Given the description of an element on the screen output the (x, y) to click on. 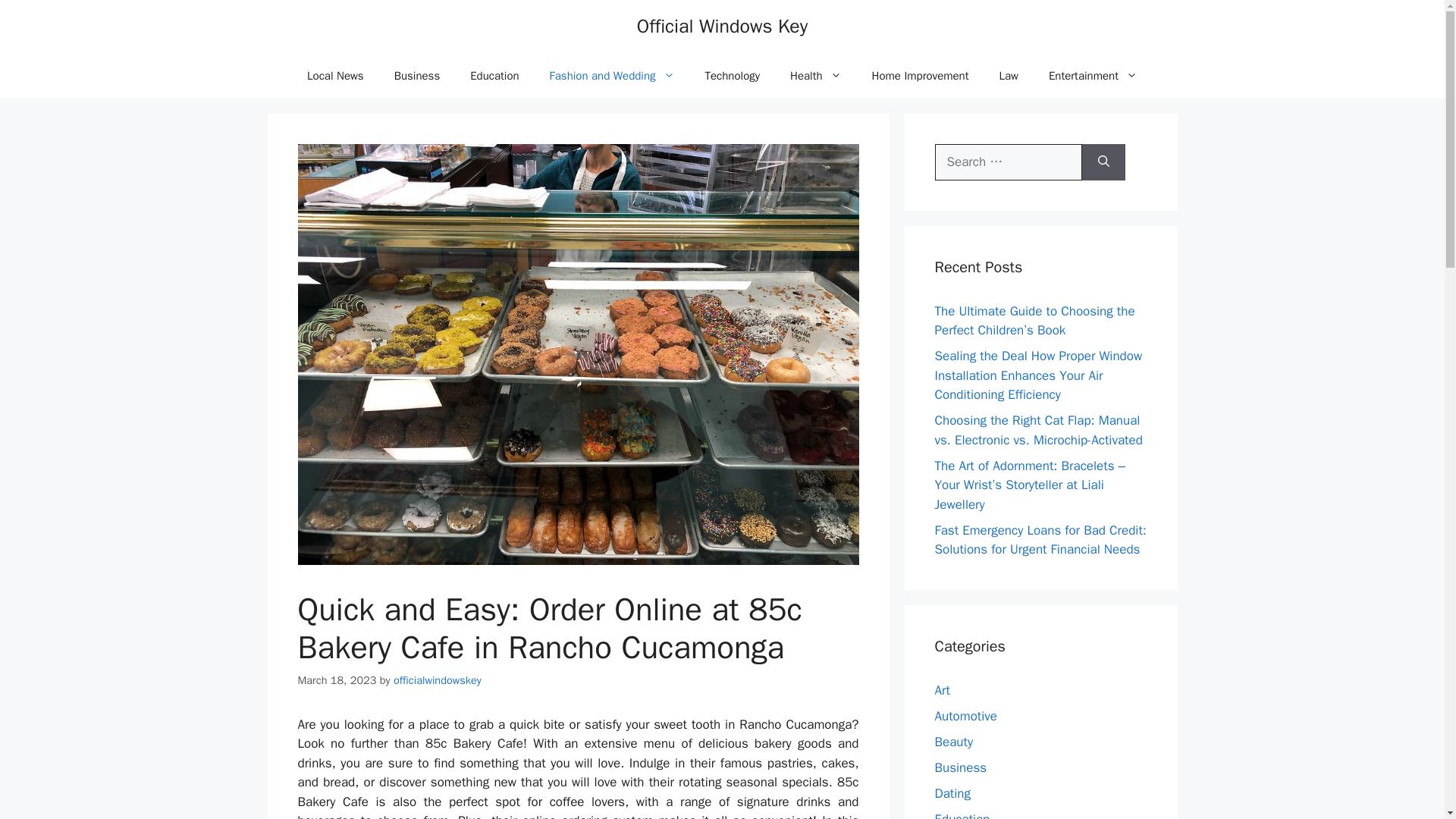
Dating (952, 793)
Law (1008, 75)
Beauty (953, 741)
Education (494, 75)
Education (962, 815)
Automotive (965, 715)
Official Windows Key (722, 25)
officialwindowskey (437, 680)
Technology (733, 75)
Entertainment (1093, 75)
Home Improvement (920, 75)
Business (416, 75)
Search for: (1007, 162)
